Given the description of an element on the screen output the (x, y) to click on. 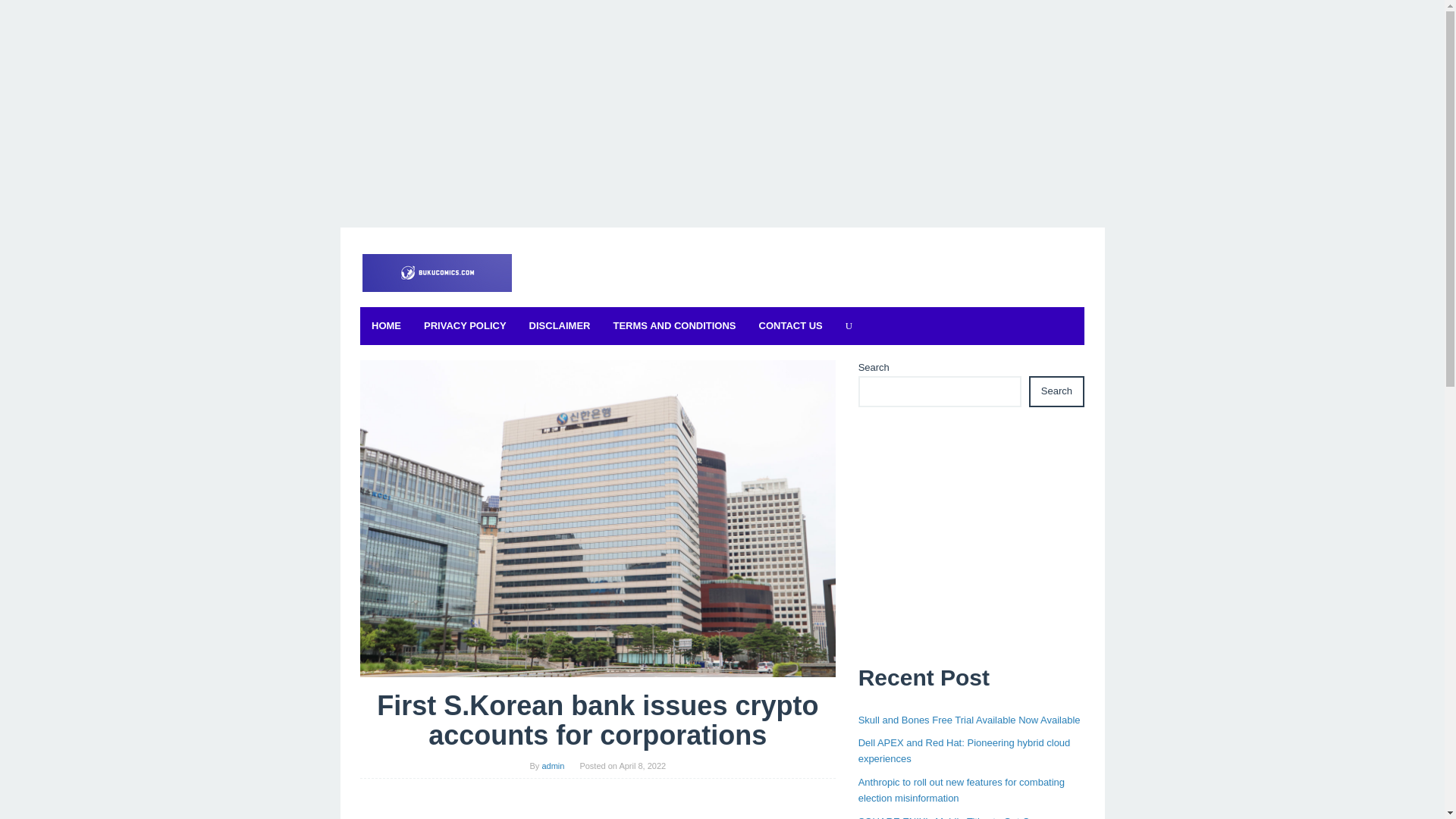
CONTACT US (791, 325)
Permalink to: admin (552, 765)
Skull and Bones Free Trial Available Now Available (969, 719)
Dell APEX and Red Hat: Pioneering hybrid cloud experiences (964, 750)
HOME (385, 325)
PRIVACY POLICY (465, 325)
DISCLAIMER (560, 325)
Blog (435, 272)
